Given the description of an element on the screen output the (x, y) to click on. 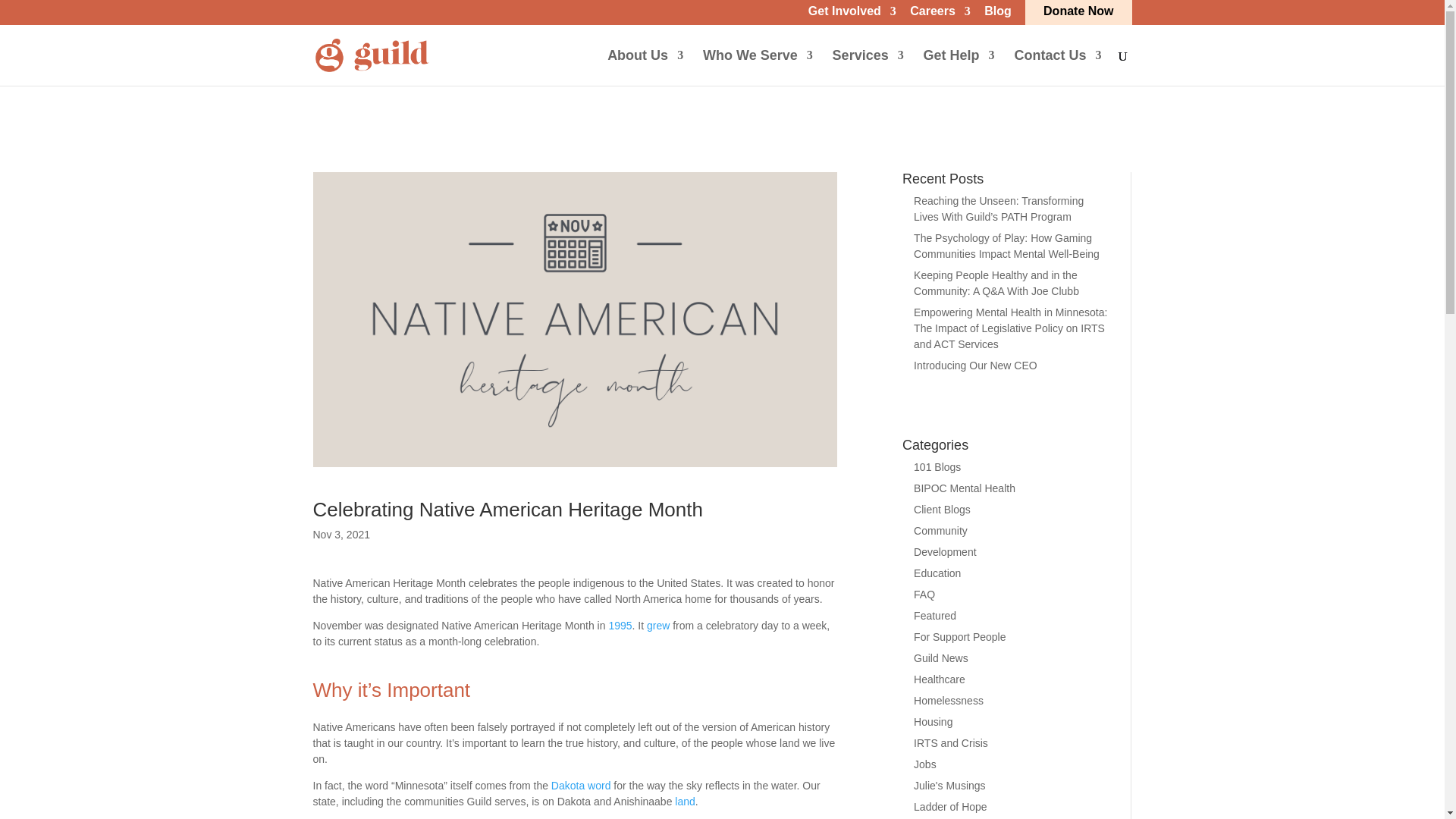
grew (657, 625)
Get Involved (852, 15)
1995 (619, 625)
Get Help (958, 67)
Who We Serve (757, 67)
Donate Now (1078, 15)
About Us (644, 67)
land (684, 801)
Contact Us (1056, 67)
Blog (997, 15)
